Given the description of an element on the screen output the (x, y) to click on. 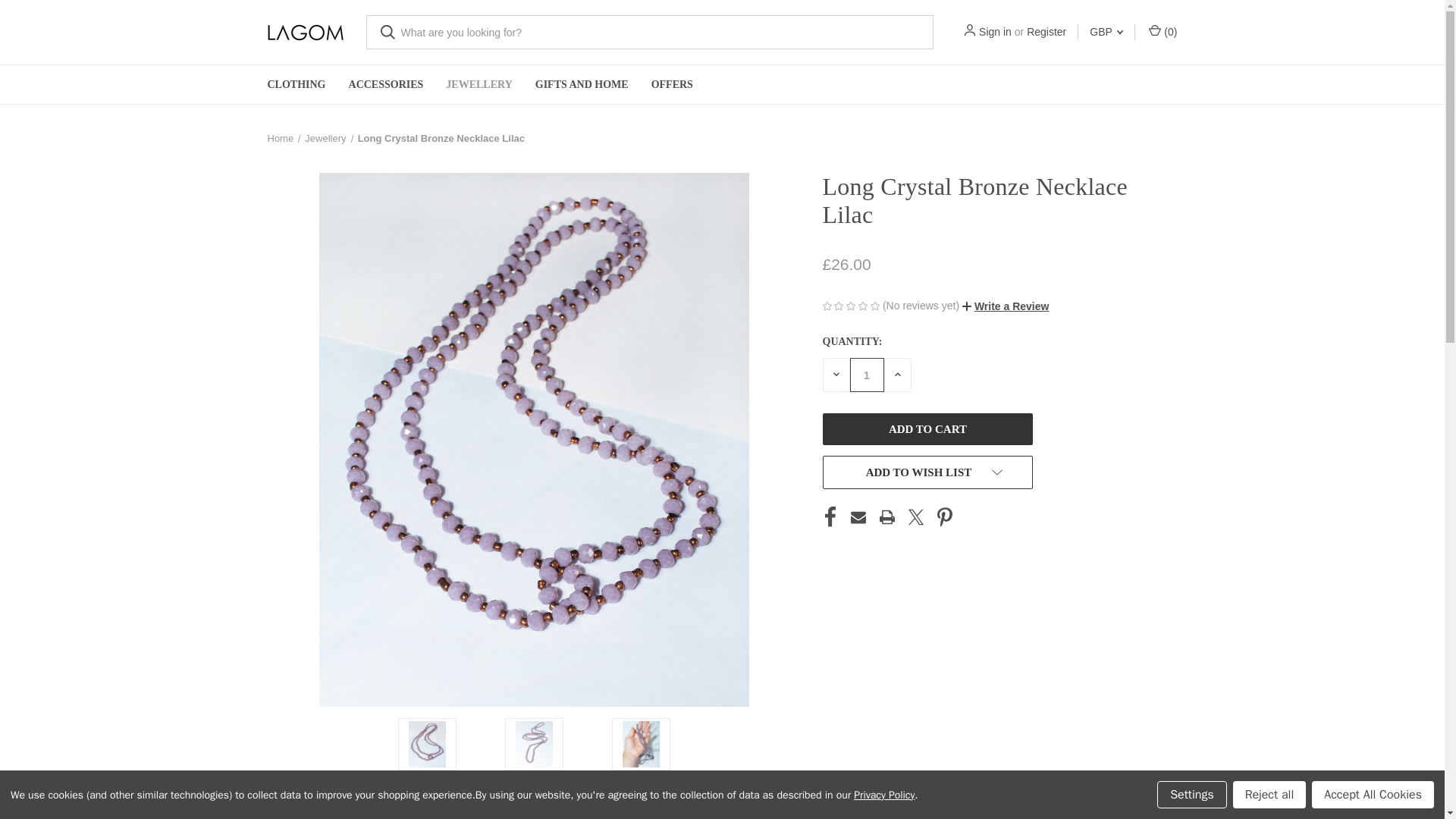
CLOTHING (296, 84)
Long Crystal Bronze Necklace Lilac (441, 138)
Jewellery (325, 138)
1 (865, 374)
ACCESSORIES (386, 84)
livelagom (304, 32)
GBP (1106, 32)
JEWELLERY (477, 84)
Home (280, 138)
